Given the description of an element on the screen output the (x, y) to click on. 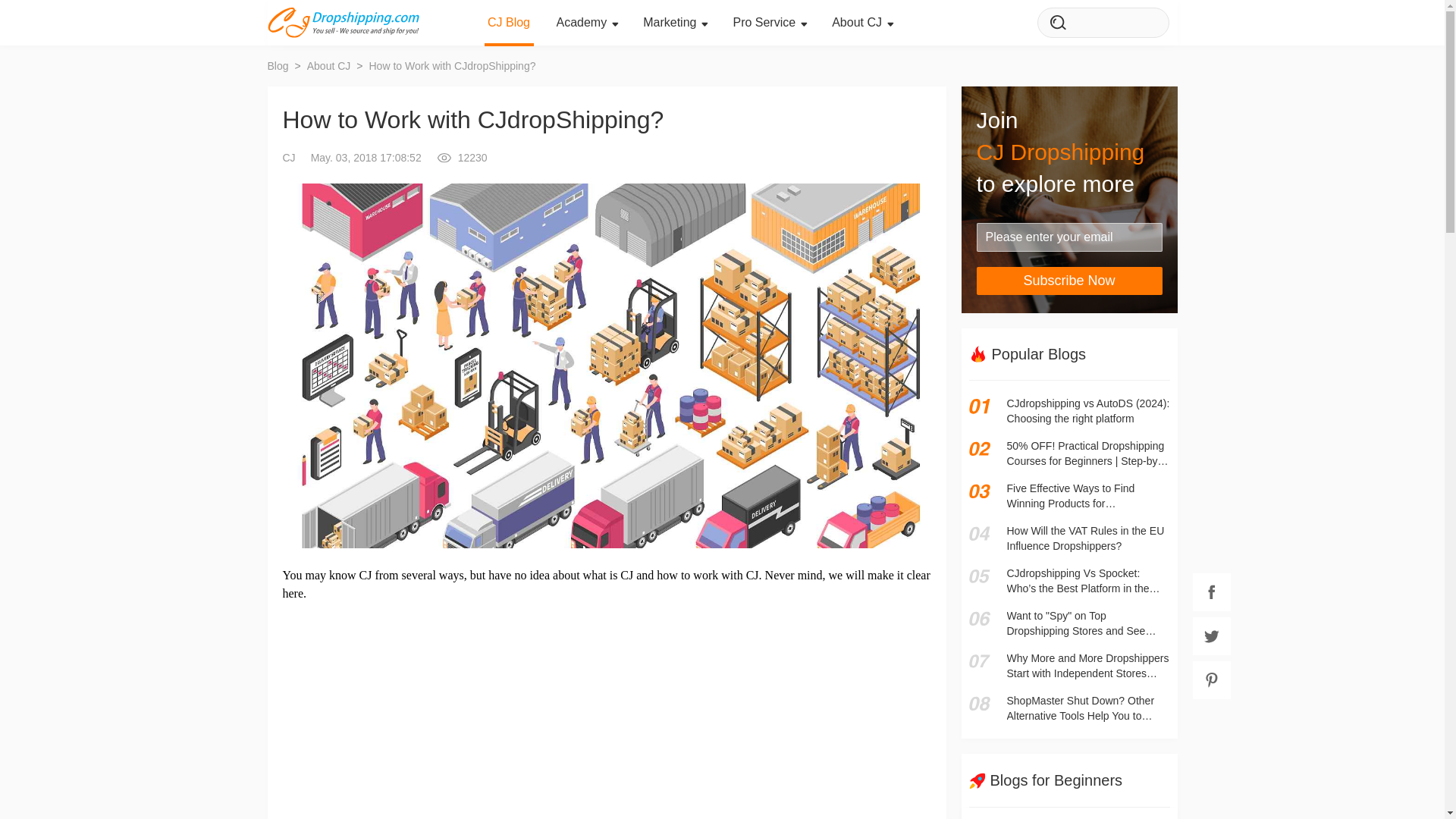
How to Work with CJdropShipping? (451, 65)
